Given the description of an element on the screen output the (x, y) to click on. 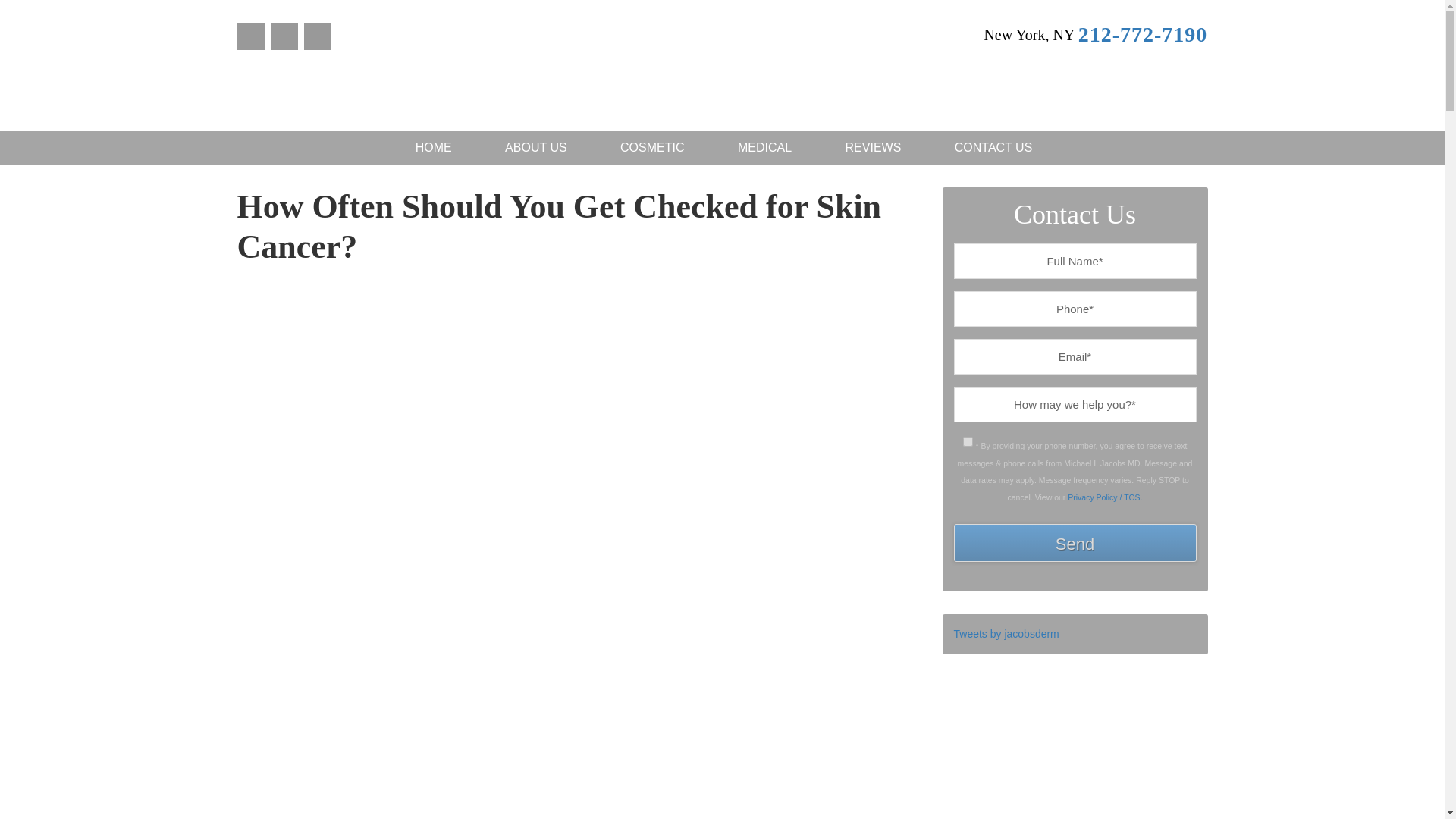
ABOUT US (536, 147)
Send (1074, 542)
MEDICAL (764, 147)
HOME (433, 147)
COSMETIC (652, 147)
1 (967, 441)
New York, NY 212-772-7190 (1095, 33)
Privacy Policy (1104, 497)
